Given the description of an element on the screen output the (x, y) to click on. 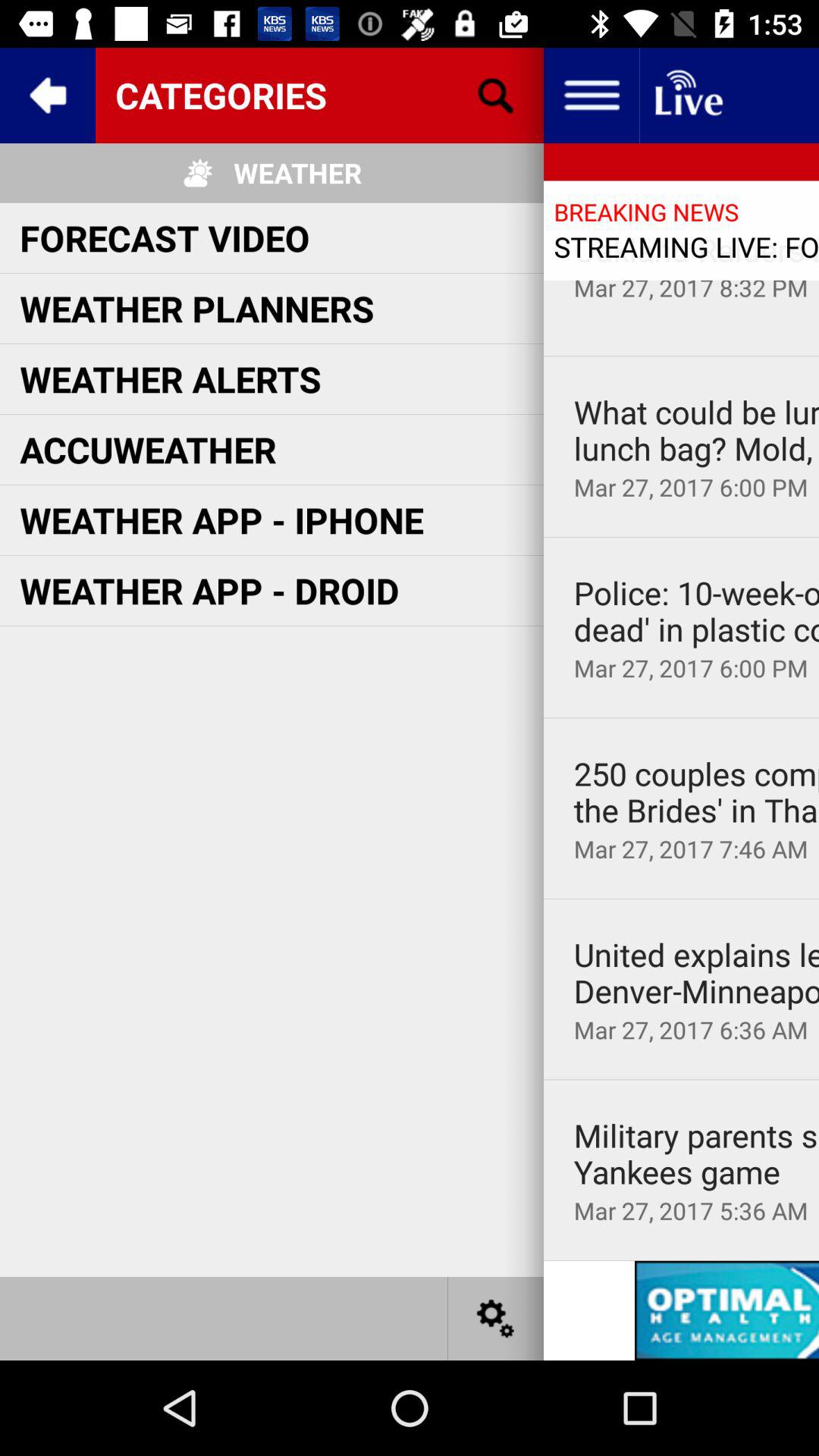
tap app above mar 27 2017 icon (696, 972)
